Given the description of an element on the screen output the (x, y) to click on. 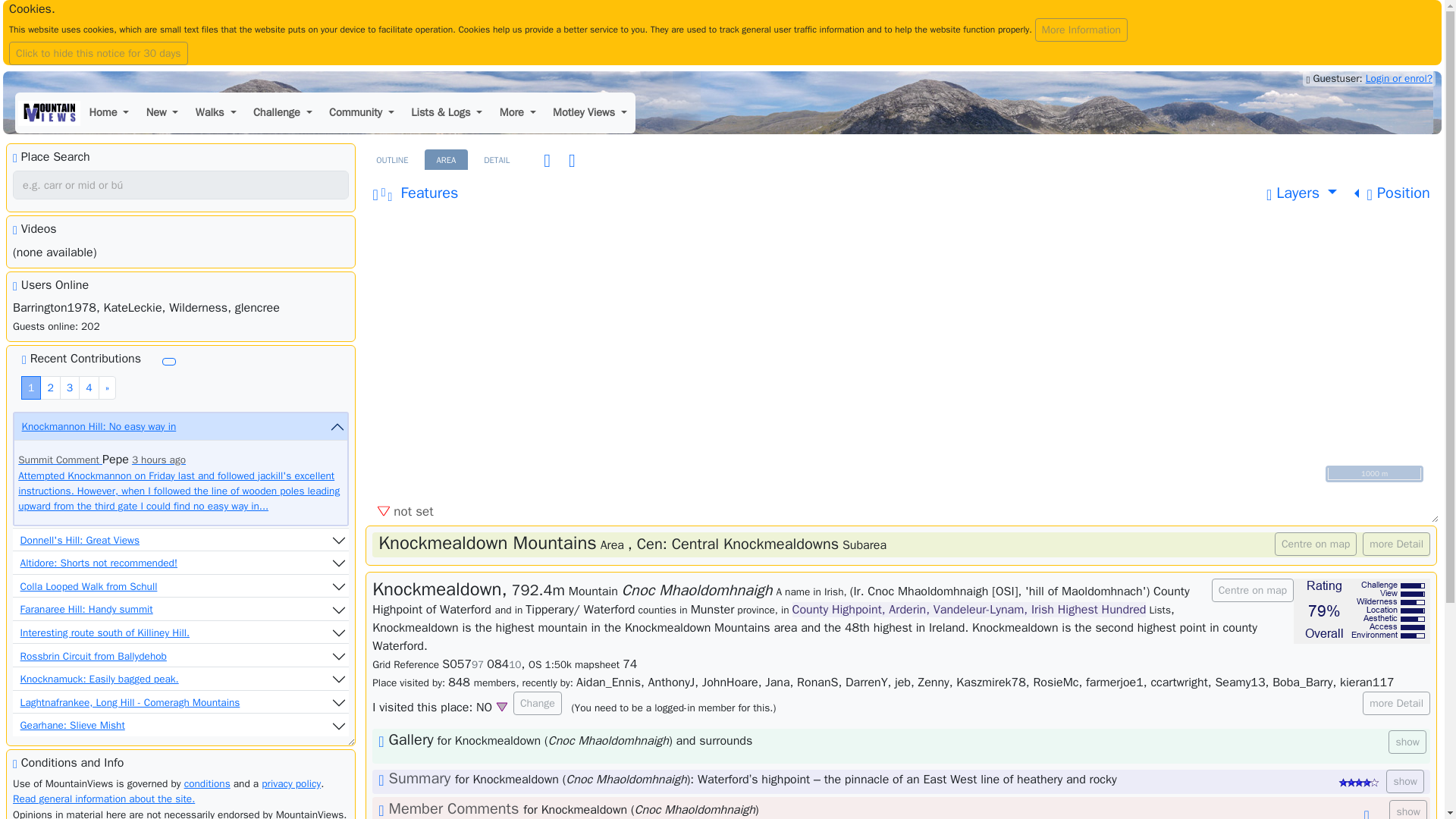
More Information (1081, 29)
More Information (1081, 29)
Set GPS Position Options (1391, 193)
New (162, 112)
Community (361, 112)
Click map to see features here (414, 193)
Walks (215, 112)
Login or enrol? (1398, 78)
Challenge (282, 112)
Set what layers map has (1301, 193)
